Given the description of an element on the screen output the (x, y) to click on. 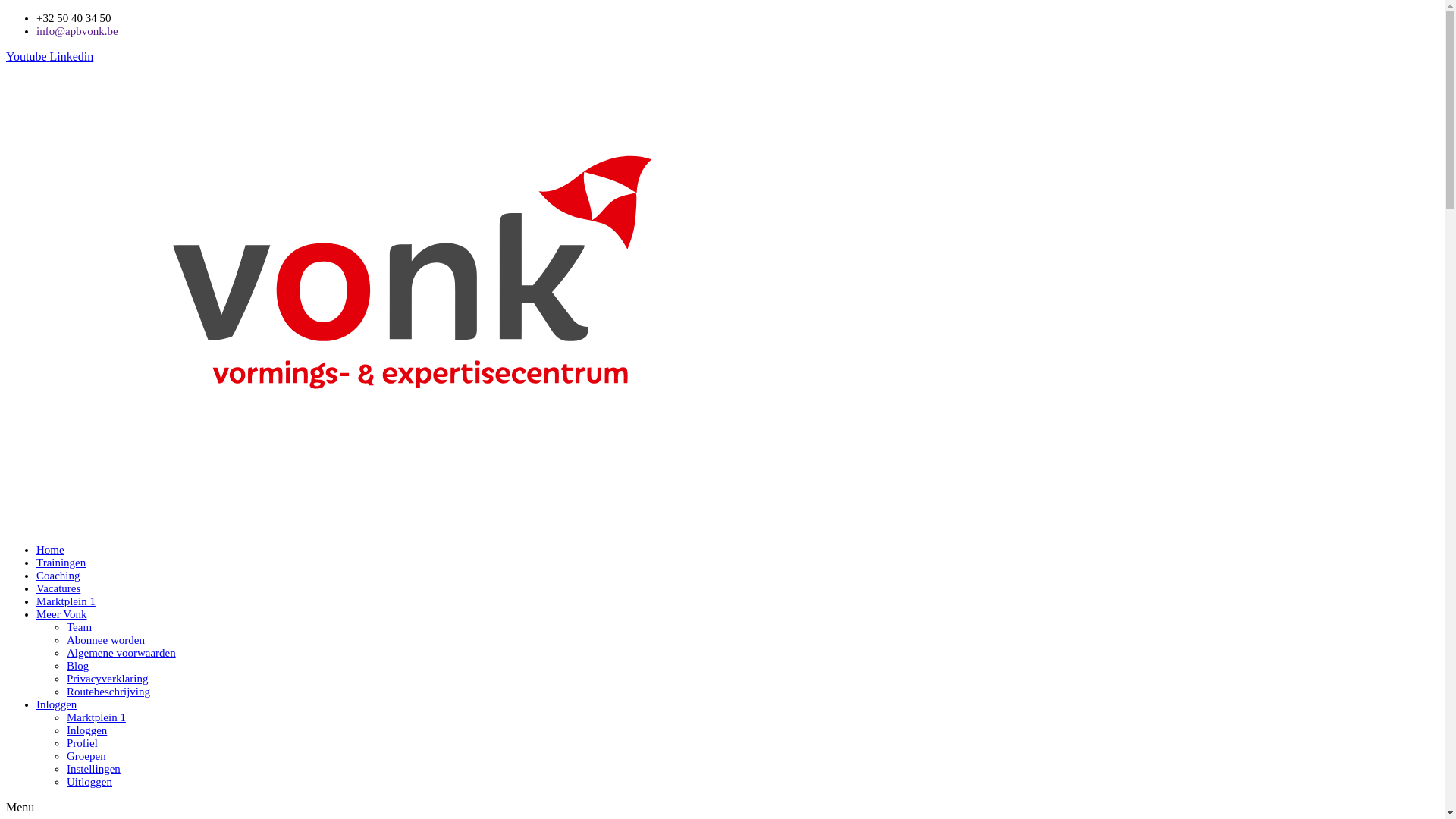
Trainingen Element type: text (60, 562)
Home Element type: text (50, 549)
Coaching Element type: text (58, 575)
VONK_logoWEB Element type: hover (410, 290)
Instellingen Element type: text (93, 768)
Privacyverklaring Element type: text (106, 678)
Vacatures Element type: text (58, 588)
Blog Element type: text (77, 665)
Inloggen Element type: text (56, 704)
Linkedin Element type: text (72, 56)
info@apbvonk.be Element type: text (77, 31)
Team Element type: text (78, 627)
Uitloggen Element type: text (89, 781)
Algemene voorwaarden Element type: text (120, 652)
Abonnee worden Element type: text (105, 639)
Inloggen Element type: text (86, 730)
Profiel Element type: text (81, 743)
Groepen Element type: text (86, 755)
Youtube Element type: text (28, 56)
Marktplein 1 Element type: text (95, 717)
Meer Vonk Element type: text (61, 614)
Marktplein 1 Element type: text (65, 601)
Routebeschrijving Element type: text (108, 691)
